Given the description of an element on the screen output the (x, y) to click on. 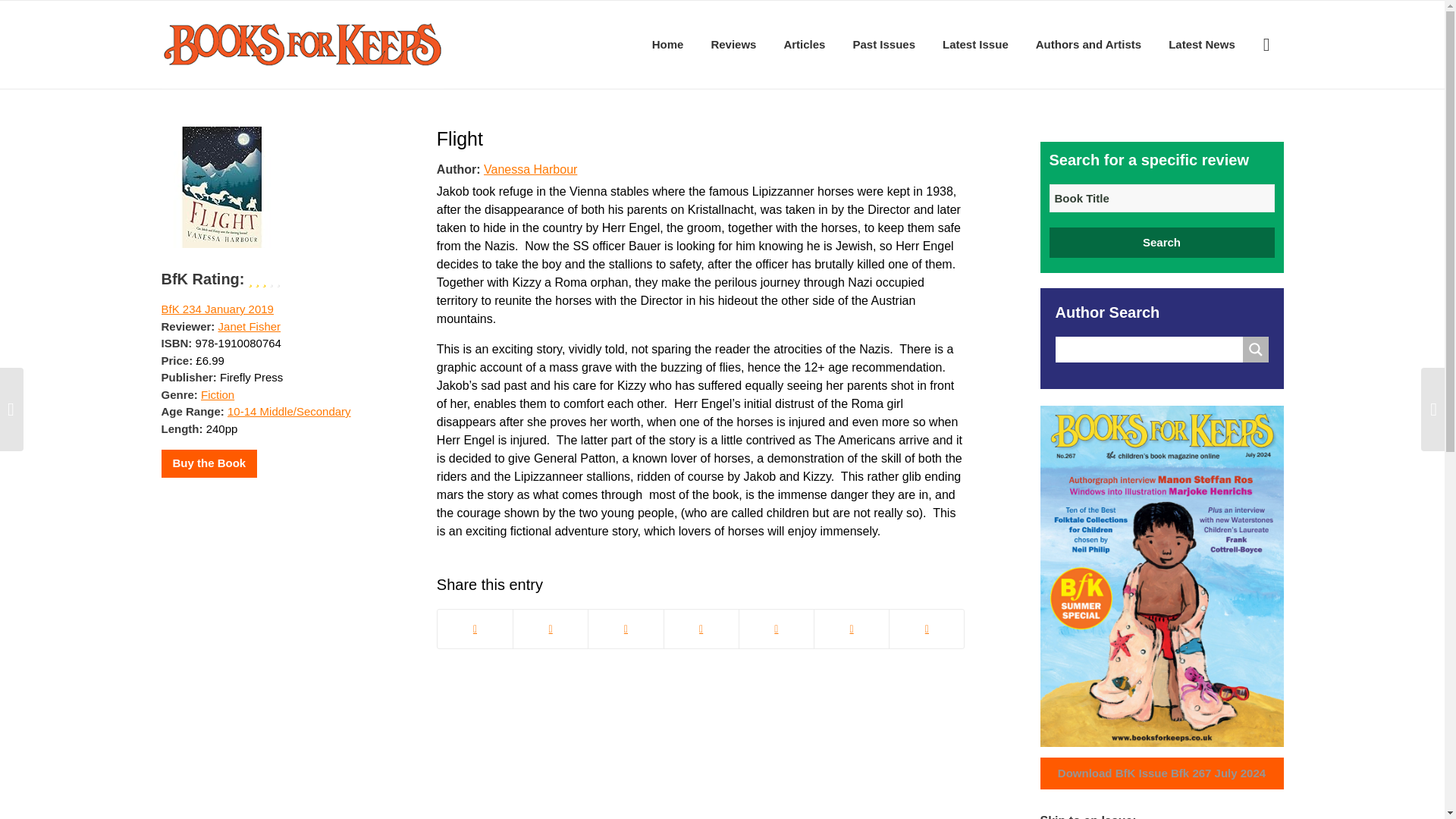
Fiction (217, 394)
Vanessa Harbour (529, 168)
Past Issues (883, 44)
Latest News (1201, 44)
Search (1162, 242)
Download BfK Issue Bfk 267 July 2024 (1162, 773)
Authors and Artists (1088, 44)
Flight (459, 138)
BfK 234 January 2019 (216, 308)
Permanent Link: Flight (459, 138)
